Given the description of an element on the screen output the (x, y) to click on. 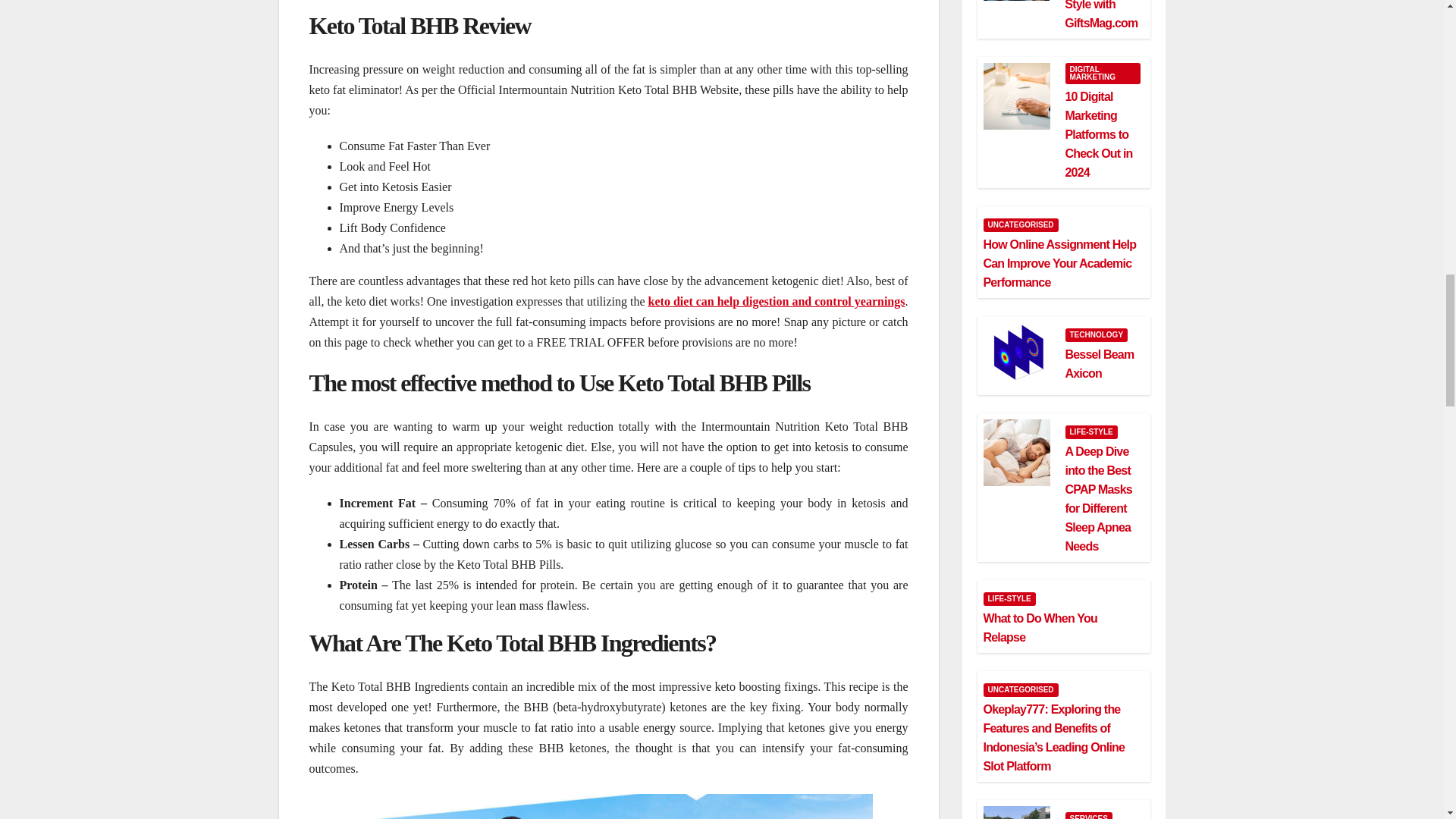
keto diet can help digestion and control yearnings (776, 300)
